Given the description of an element on the screen output the (x, y) to click on. 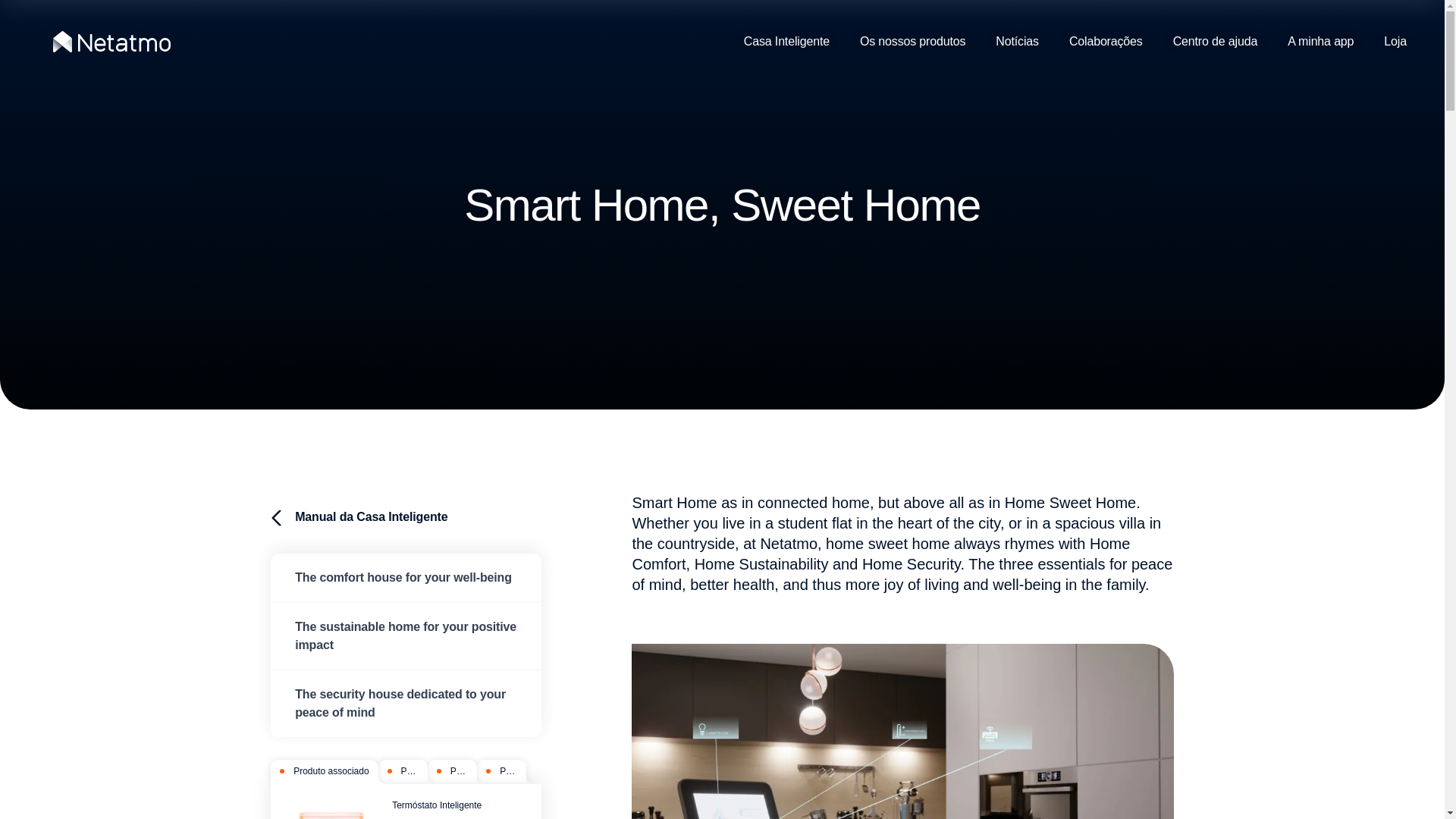
A minha app (1320, 41)
Casa Inteligente (794, 41)
Os nossos produtos (911, 41)
Centro de ajuda (1214, 41)
Loja (1395, 41)
